Given the description of an element on the screen output the (x, y) to click on. 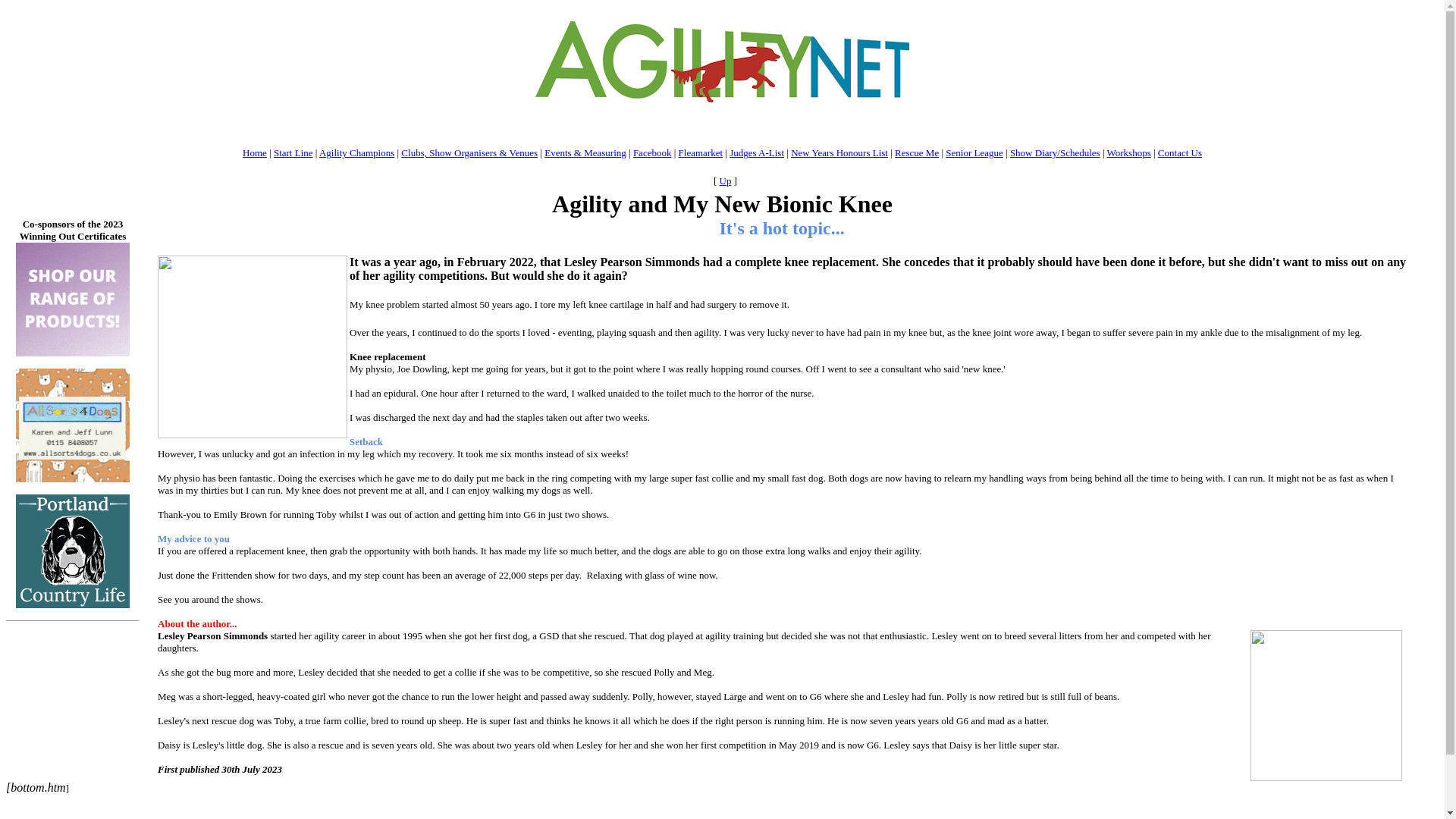
Up (725, 180)
Facebook (652, 152)
Rescue Me (917, 152)
Senior League (973, 152)
Judges A-List (756, 152)
New Years Honours List (839, 152)
Fleamarket (700, 152)
Contact Us (1179, 152)
Start Line (293, 152)
Agility Champions (356, 152)
